Given the description of an element on the screen output the (x, y) to click on. 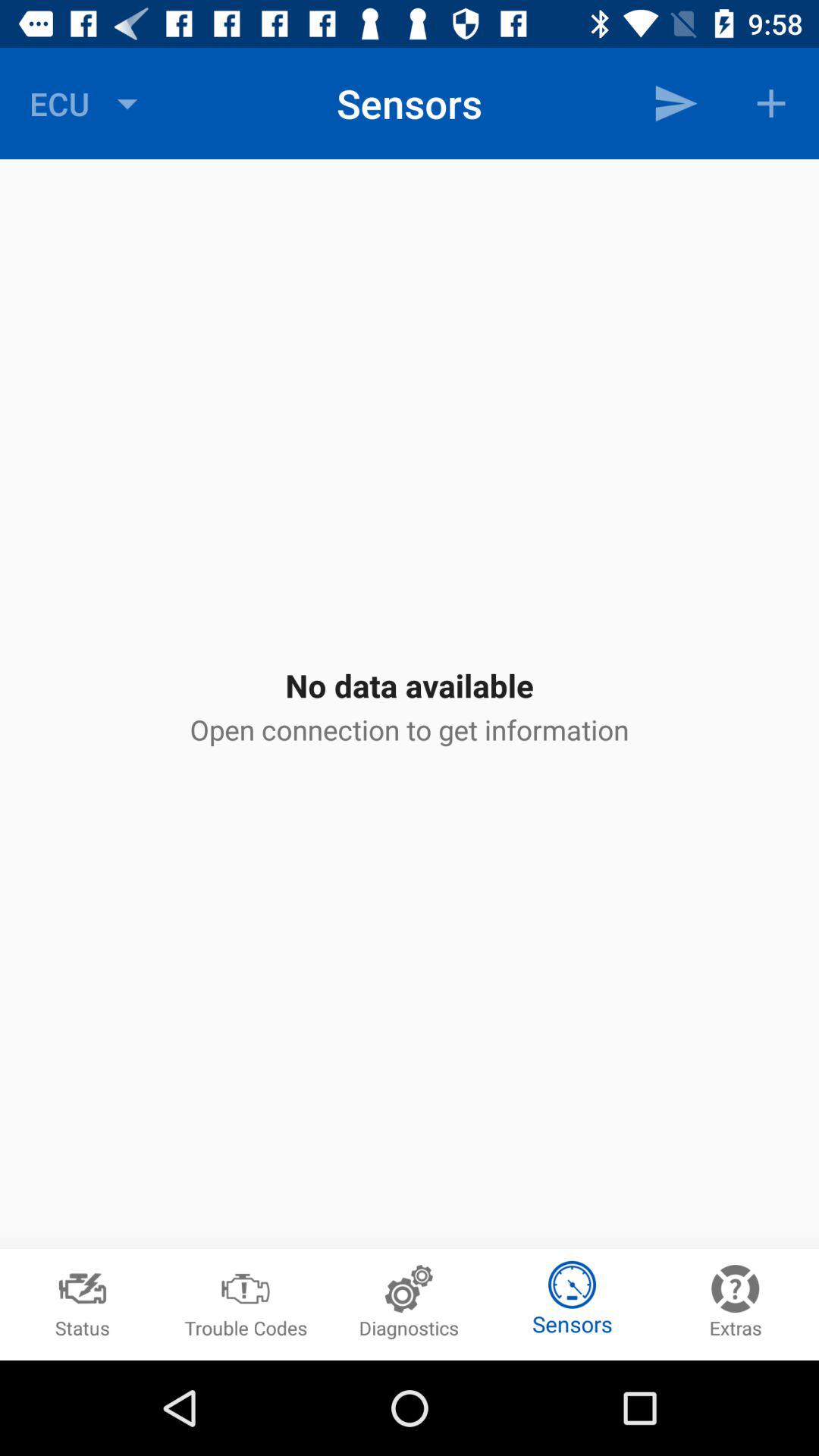
select the icon to the left of sensors (87, 103)
